Given the description of an element on the screen output the (x, y) to click on. 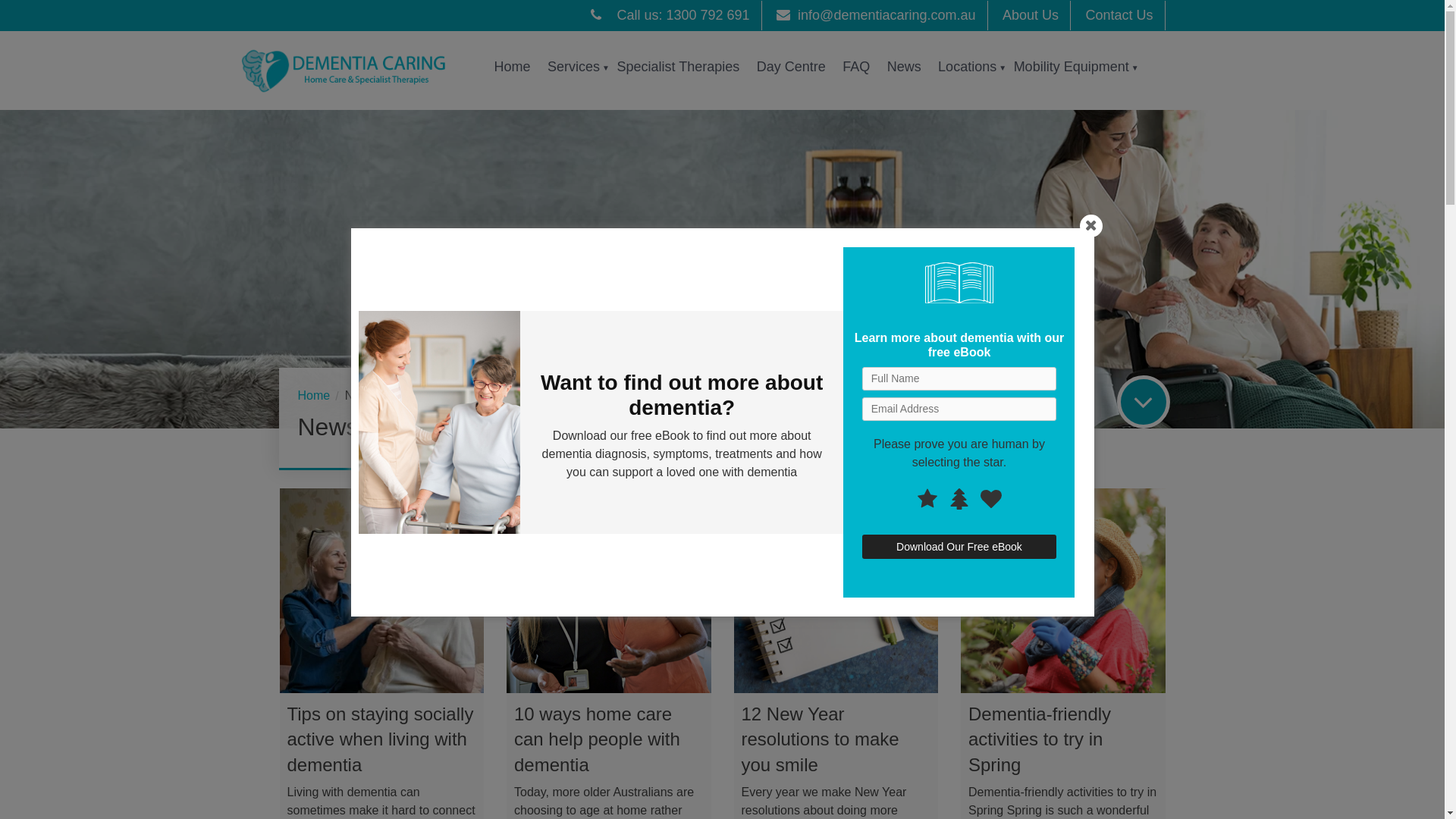
FAQ Element type: text (855, 66)
About Us Element type: text (1030, 14)
Call us: 1300 792 691 Element type: text (669, 14)
Services Element type: text (573, 66)
Tips on staying socially active when living with dementia Element type: text (379, 739)
News Element type: text (904, 66)
banner Element type: hover (722, 268)
Mobility Equipment Element type: text (1071, 66)
12 New Year resolutions to make you smile Element type: text (820, 739)
Locations Element type: text (967, 66)
Download Our Free eBook Element type: text (959, 546)
Dementia Care Element type: hover (352, 70)
10 ways home care can help people with dementia Element type: text (597, 739)
info@dementiacaring.com.au Element type: text (875, 14)
Home Element type: text (512, 66)
Home Element type: text (319, 395)
day care for seniors with dementia Element type: hover (438, 421)
Specialist Therapies Element type: text (677, 66)
Dementia-friendly activities to try in Spring Element type: text (1039, 739)
Day Centre Element type: text (790, 66)
Contact Us Element type: text (1118, 14)
